Given the description of an element on the screen output the (x, y) to click on. 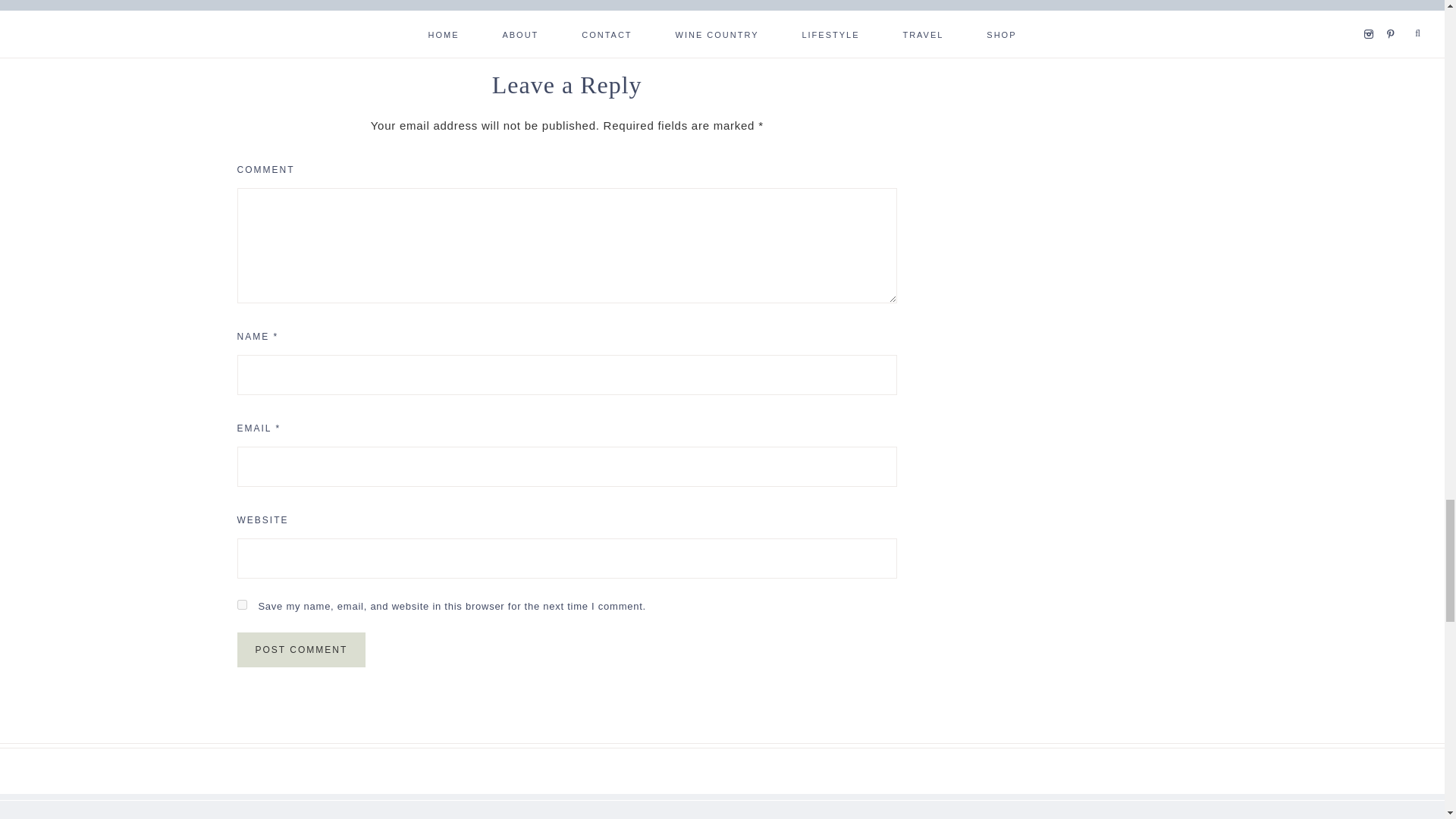
Permanent Link to My Thoughts On The Toteme Scarf Coat (361, 7)
yes (240, 604)
Post Comment (300, 649)
Permanent Link to A Winter Wine Country Look (766, 7)
